Given the description of an element on the screen output the (x, y) to click on. 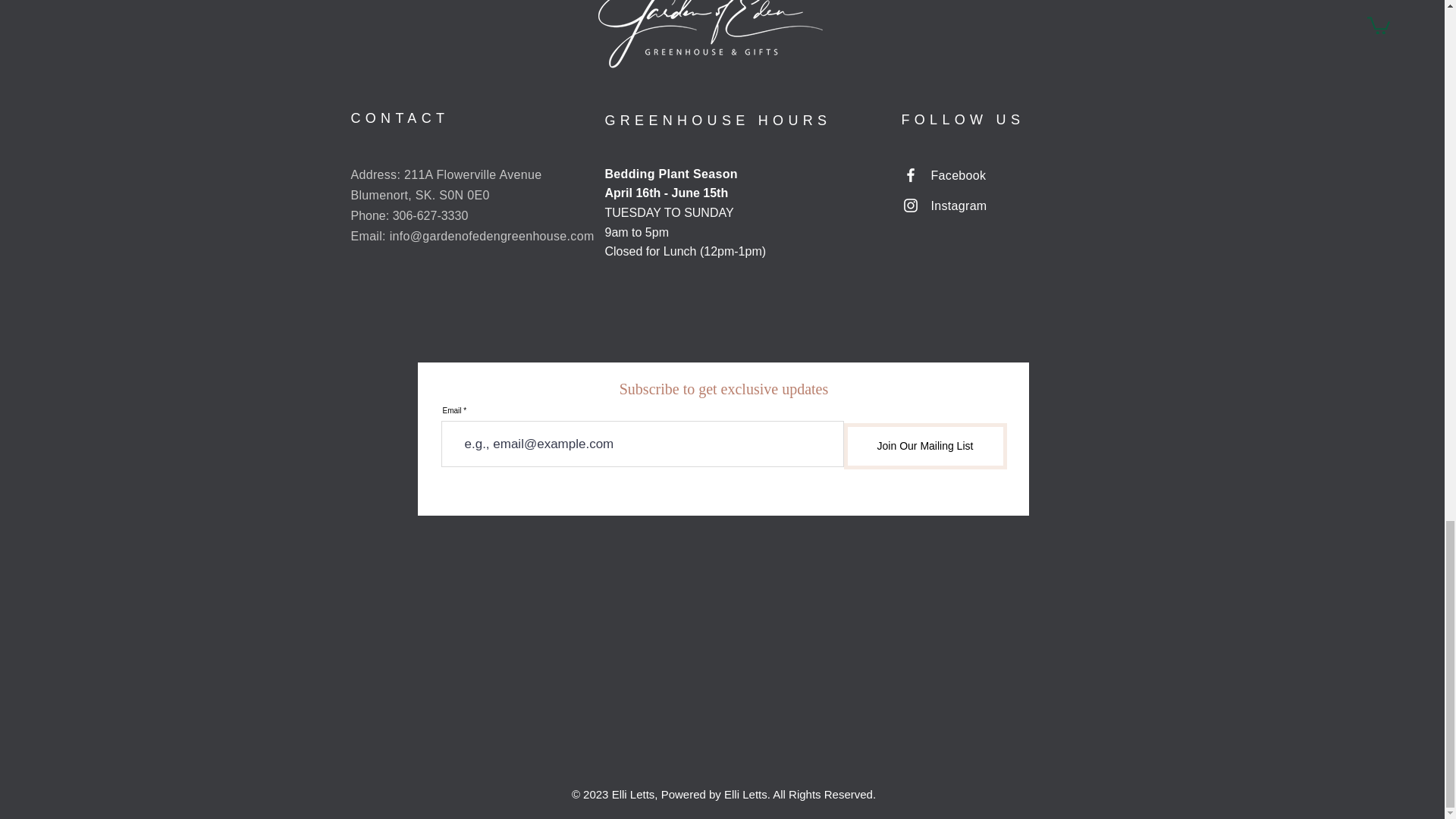
Bedding Plant Season (671, 173)
